Given the description of an element on the screen output the (x, y) to click on. 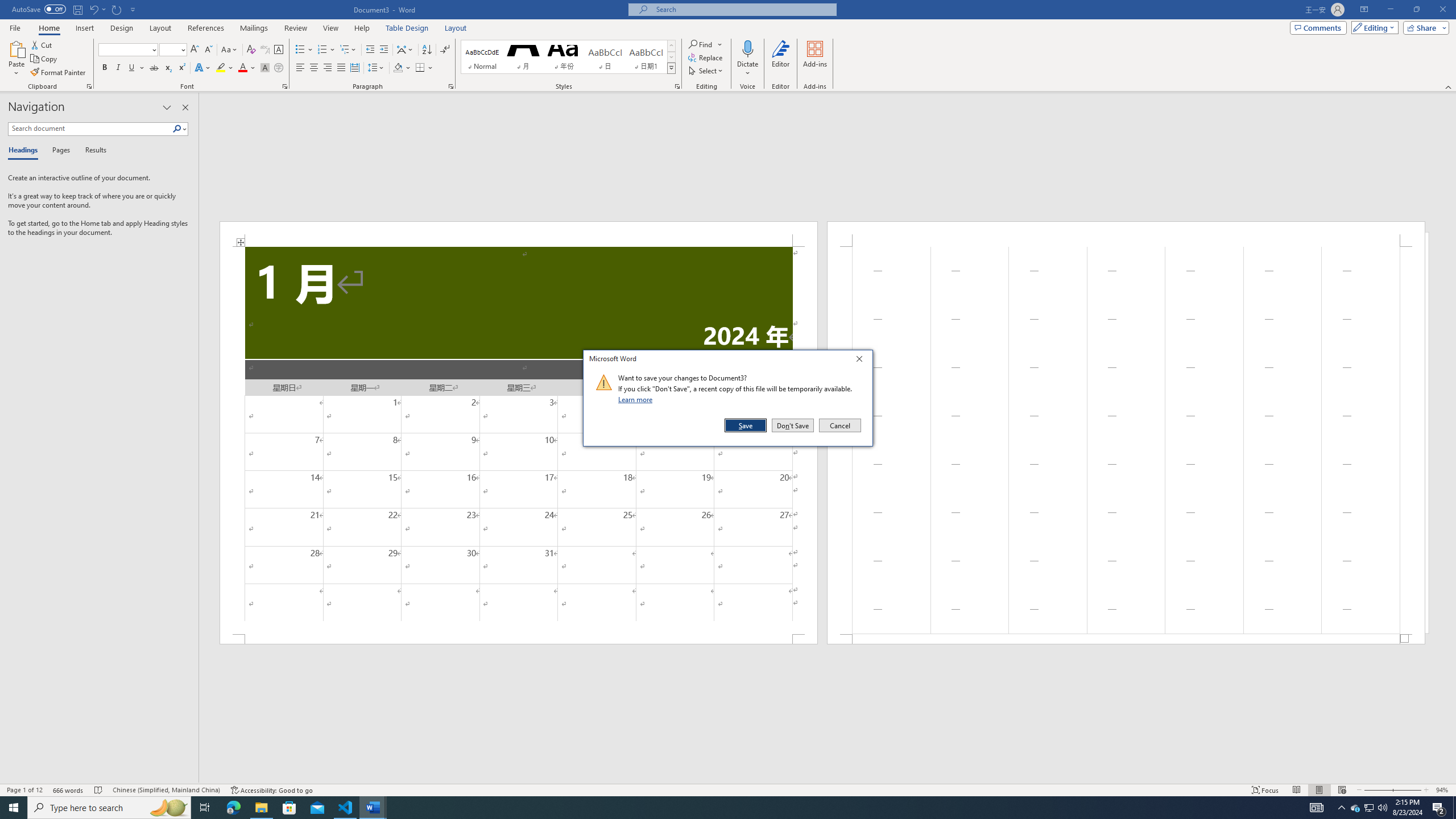
Office Clipboard... (88, 85)
Justify (340, 67)
Running applications (717, 807)
Find (705, 44)
Decrease Indent (370, 49)
Replace... (705, 56)
Bold (104, 67)
Styles (670, 67)
